Given the description of an element on the screen output the (x, y) to click on. 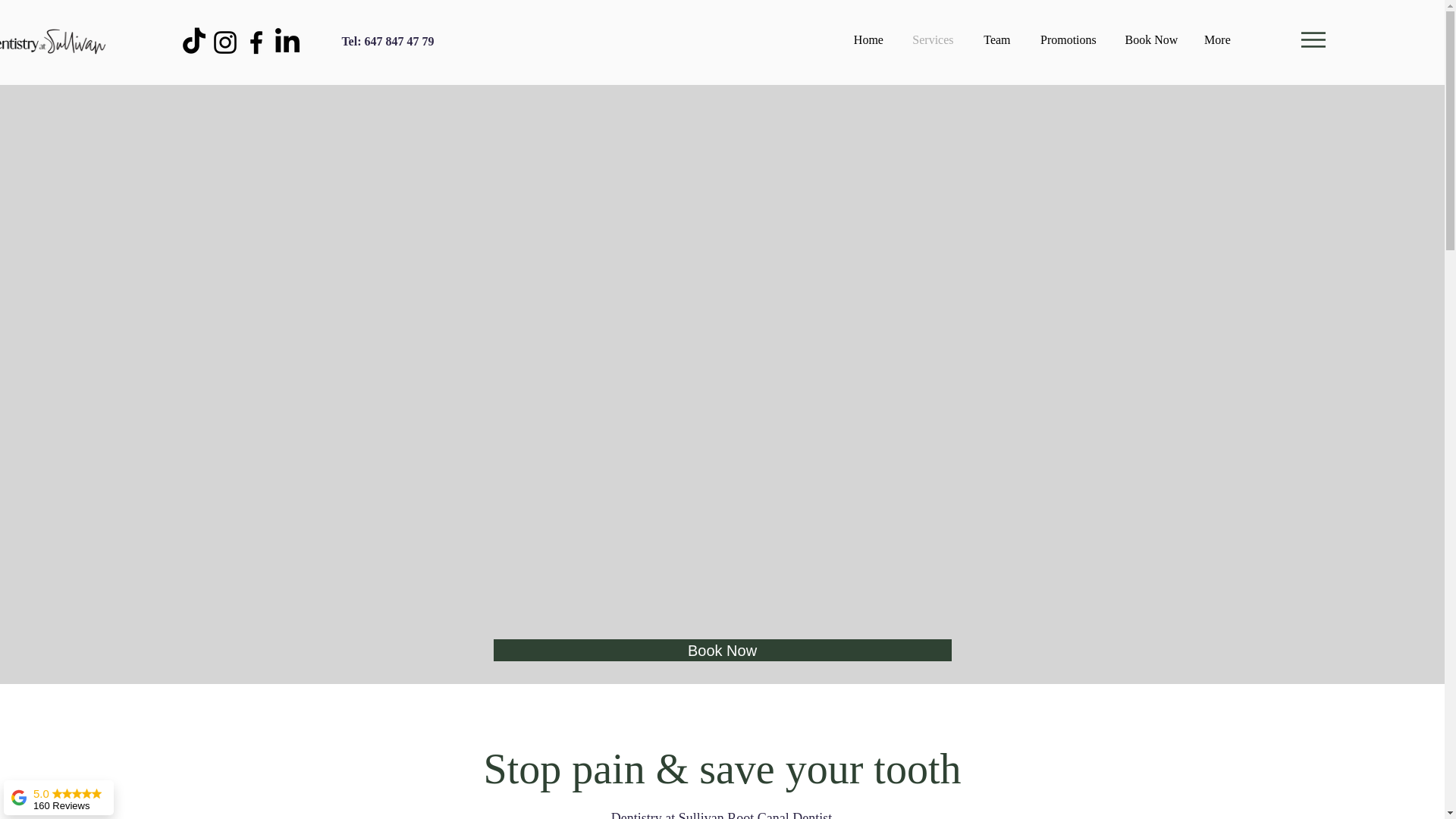
Services (932, 39)
Home (868, 39)
Book Now (721, 649)
Tel: 647 847 47 79 (386, 41)
Promotions (1068, 39)
Book Now (1151, 39)
Team (997, 39)
